Given the description of an element on the screen output the (x, y) to click on. 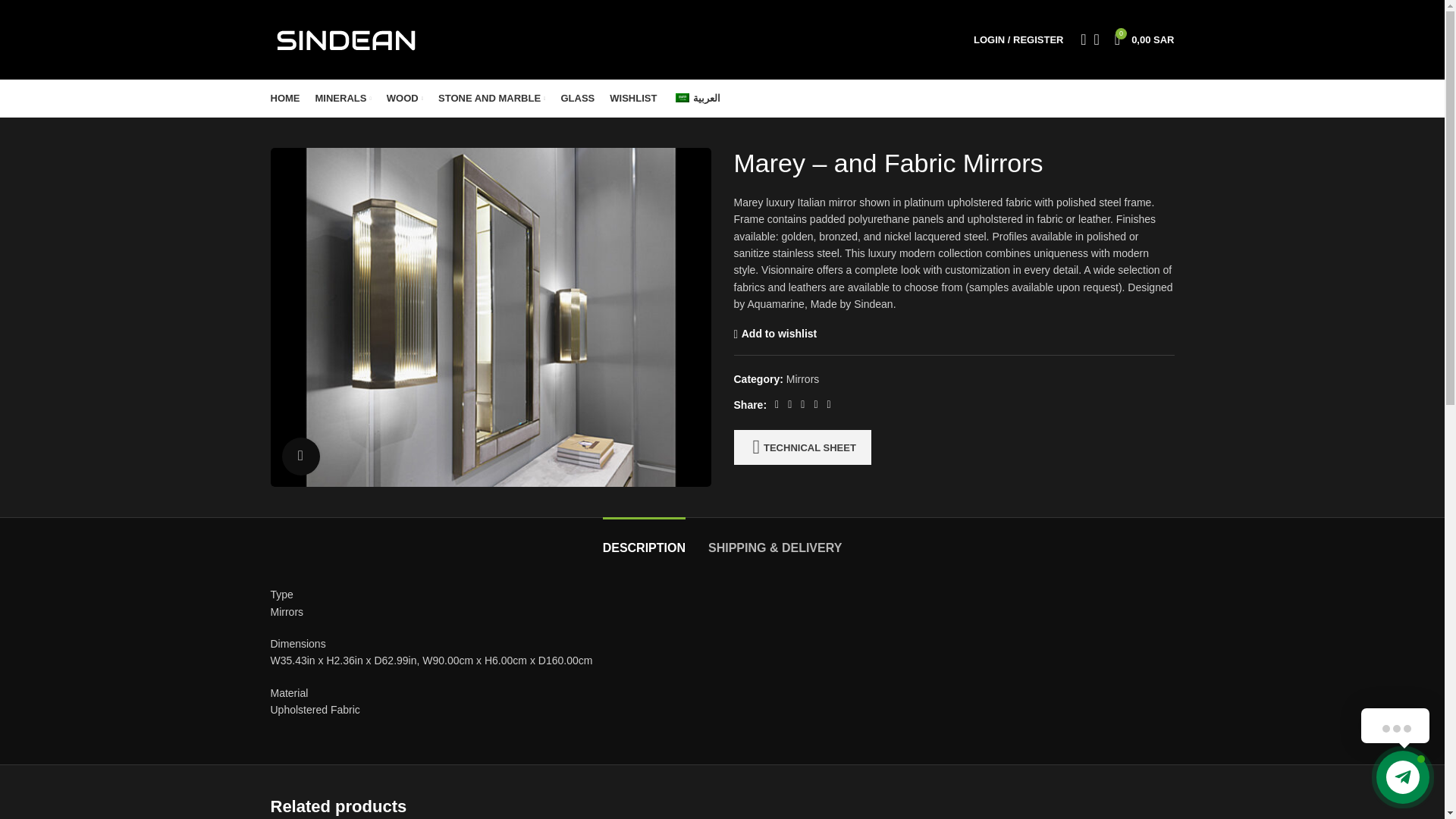
Log in (938, 280)
My Wishlist (1096, 39)
Shopping cart (1144, 39)
MINERALS (343, 98)
Search (1078, 39)
WOOD (405, 98)
My account (1018, 39)
HOME (284, 98)
Marey.jpg (1144, 39)
